Given the description of an element on the screen output the (x, y) to click on. 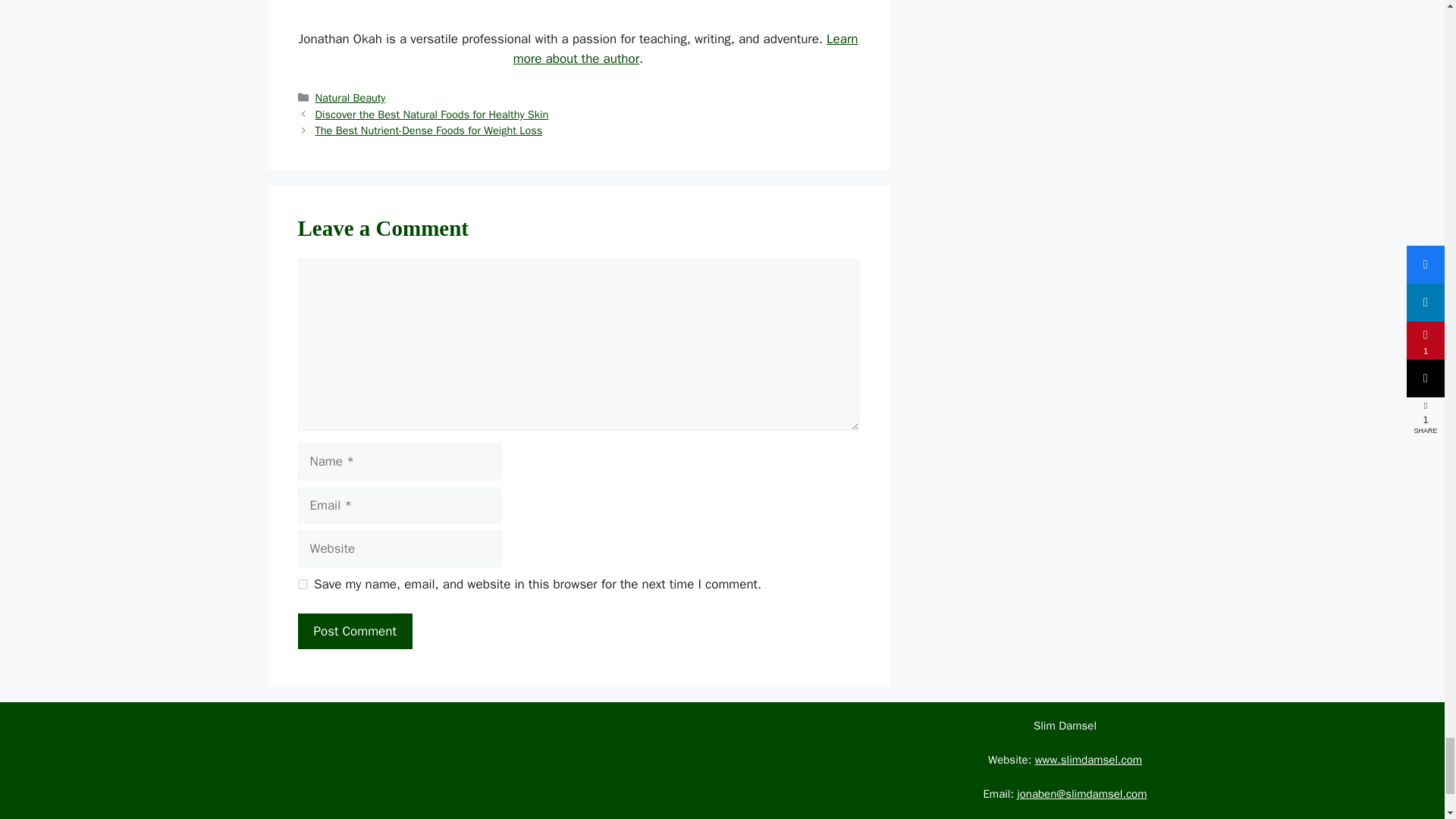
Post Comment (354, 631)
yes (302, 583)
How to Use Essential Oils for Beauty Care (577, 12)
